Given the description of an element on the screen output the (x, y) to click on. 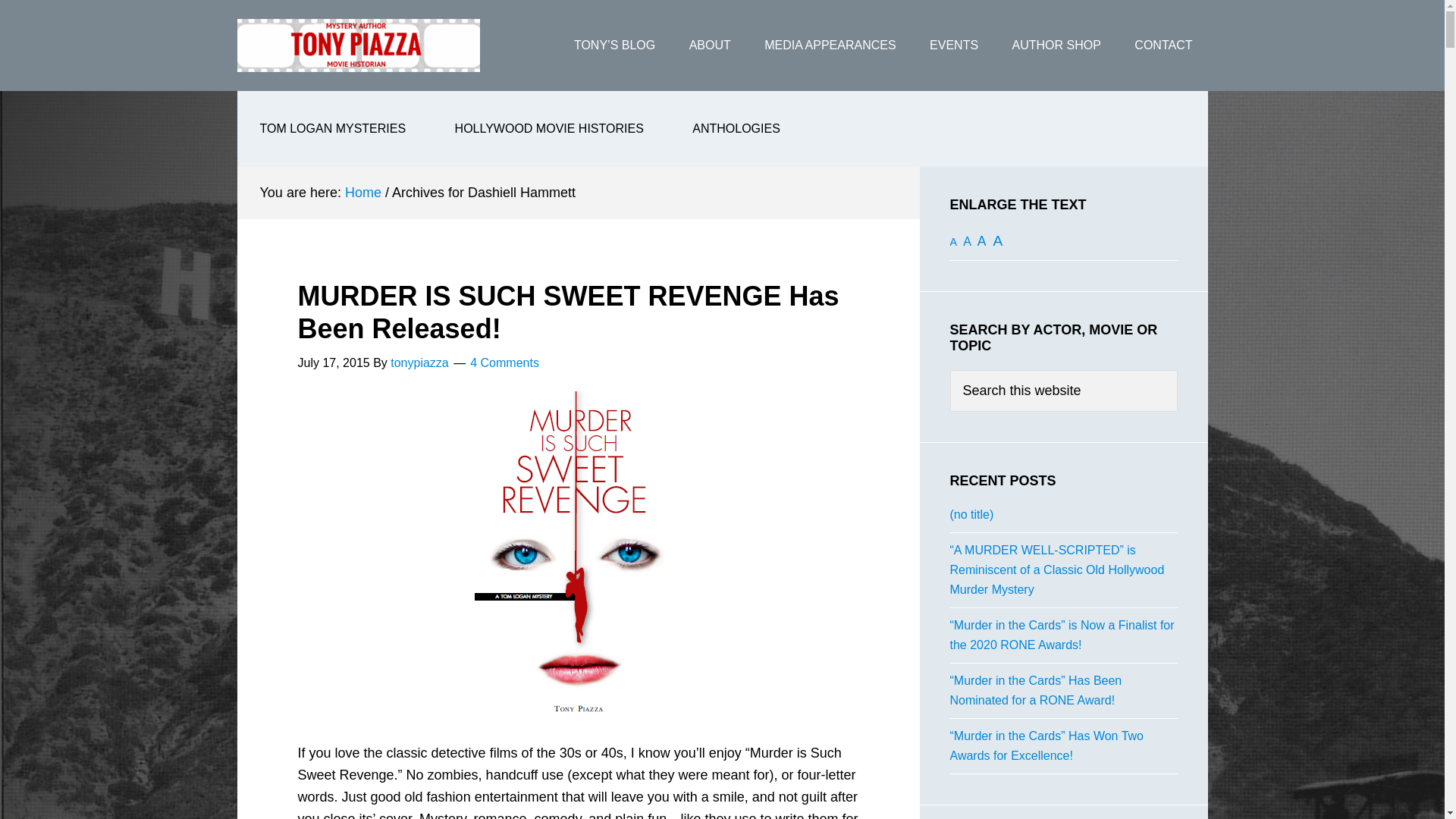
ANTHOLOGIES (736, 128)
MEDIA APPEARANCES (830, 45)
Author Tony Piazza (357, 45)
TOM LOGAN MYSTERIES (331, 128)
Home (363, 192)
tonypiazza (419, 362)
CONTACT (1163, 45)
AUTHOR SHOP (1056, 45)
